Given the description of an element on the screen output the (x, y) to click on. 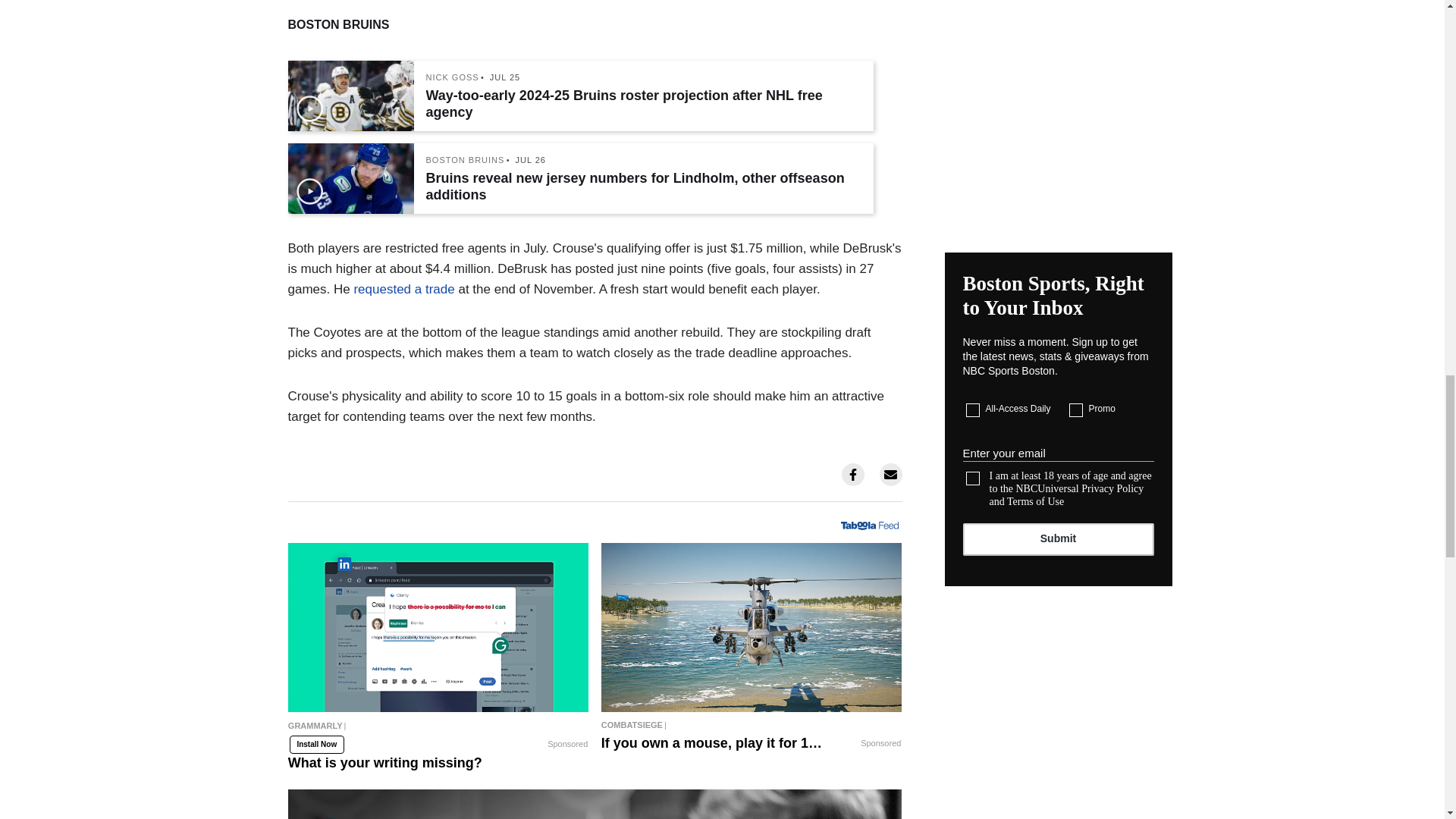
BOSTON BRUINS (465, 160)
on (972, 478)
on (1075, 409)
Sponsored (567, 744)
What is your writing missing? (438, 626)
on (972, 409)
requested a trade (403, 288)
If you own a mouse, play it for 1 minute. (751, 626)
NICK GOSS (452, 77)
What is your writing missing? (438, 731)
If you own a mouse, play it for 1 minute. (751, 724)
